Given the description of an element on the screen output the (x, y) to click on. 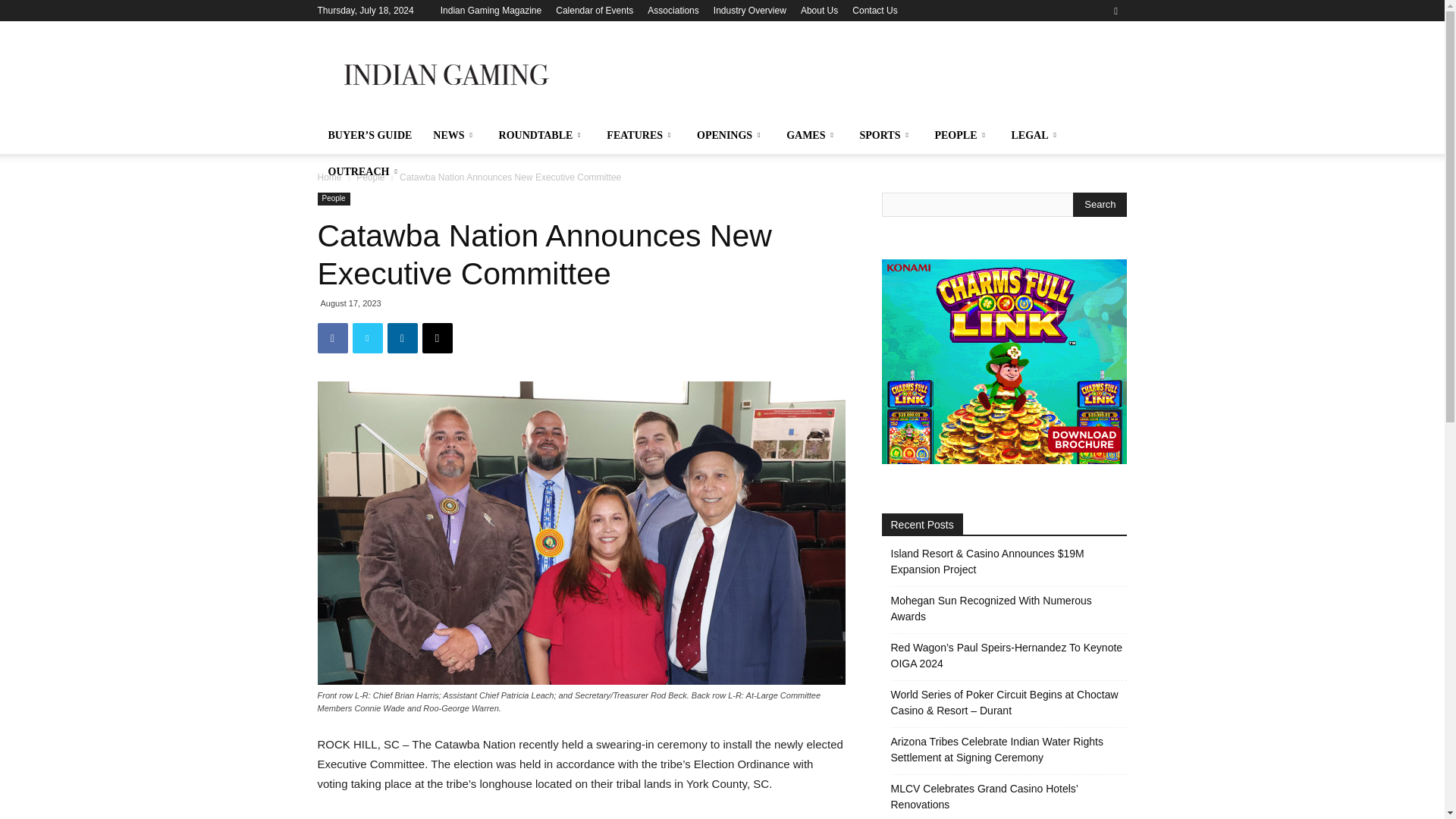
Industry Overview (749, 9)
Search (1085, 64)
Indian Gaming Magazine (491, 9)
About Us (819, 9)
NEWS (454, 135)
Search (1099, 204)
Calendar of Events (594, 9)
Contact Us (873, 9)
Associations (672, 9)
